Given the description of an element on the screen output the (x, y) to click on. 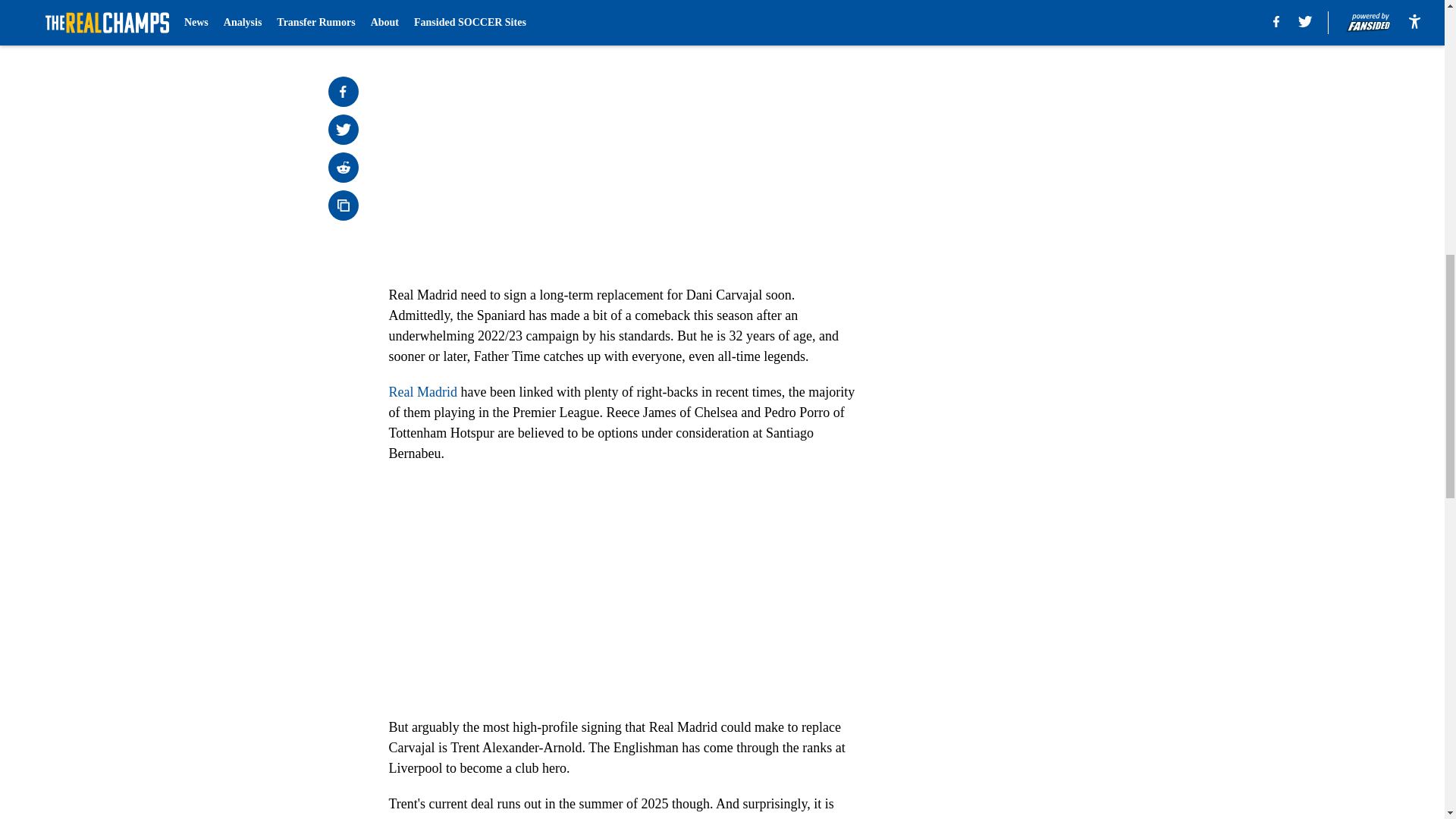
Real Madrid (422, 391)
3rd party ad content (1047, 100)
3rd party ad content (1047, 320)
